Given the description of an element on the screen output the (x, y) to click on. 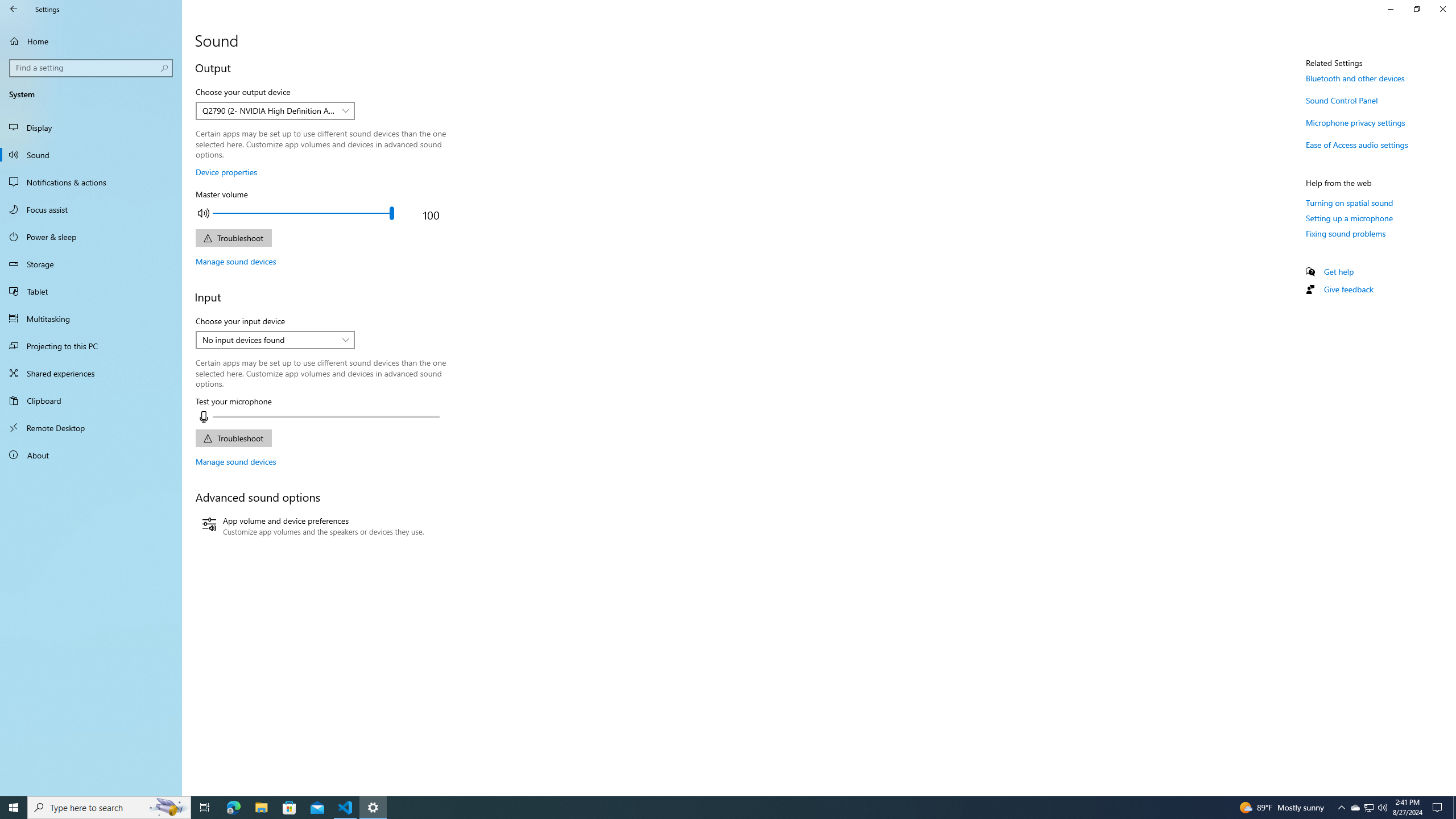
Input device troubleshoot (233, 438)
Storage (91, 263)
Choose your input device (275, 339)
Bluetooth and other devices (1355, 77)
Remote Desktop (91, 427)
Mute master volume (203, 213)
Multitasking (91, 318)
Turning on spatial sound (1349, 202)
Sound (91, 154)
Tablet (91, 290)
